Given the description of an element on the screen output the (x, y) to click on. 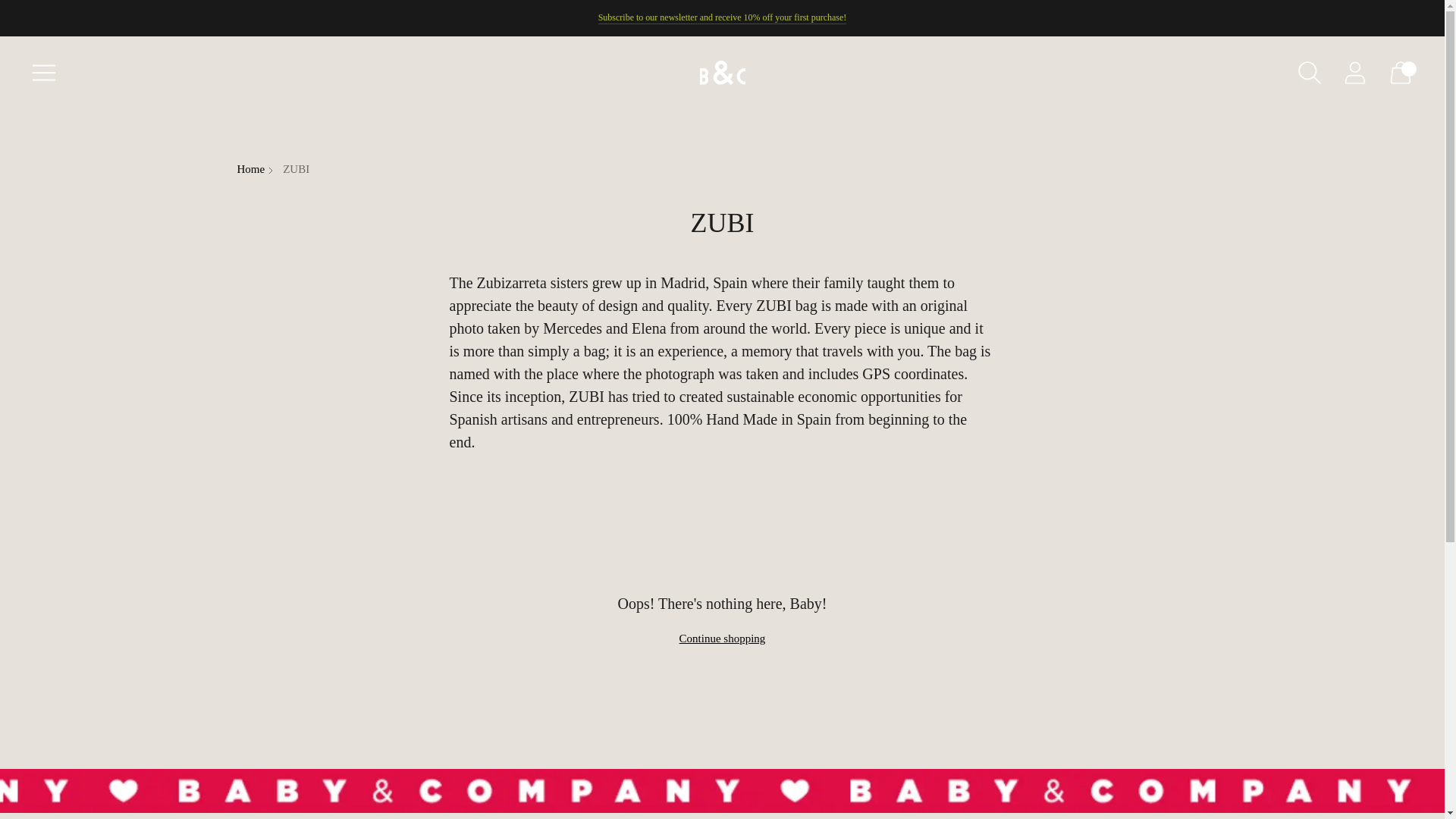
0 (1400, 72)
